Given the description of an element on the screen output the (x, y) to click on. 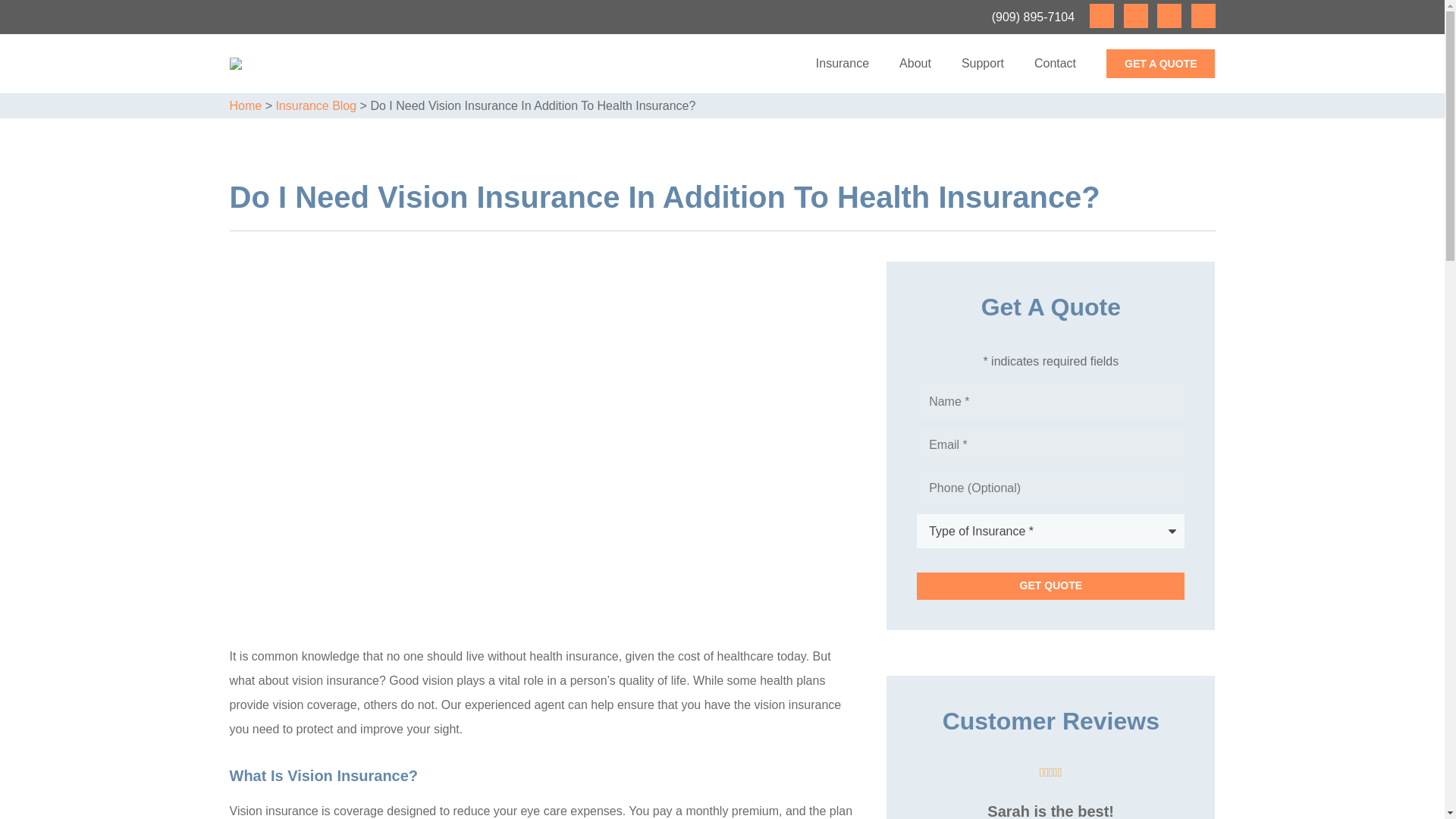
Get Quote (1051, 585)
Insurance (841, 63)
